Given the description of an element on the screen output the (x, y) to click on. 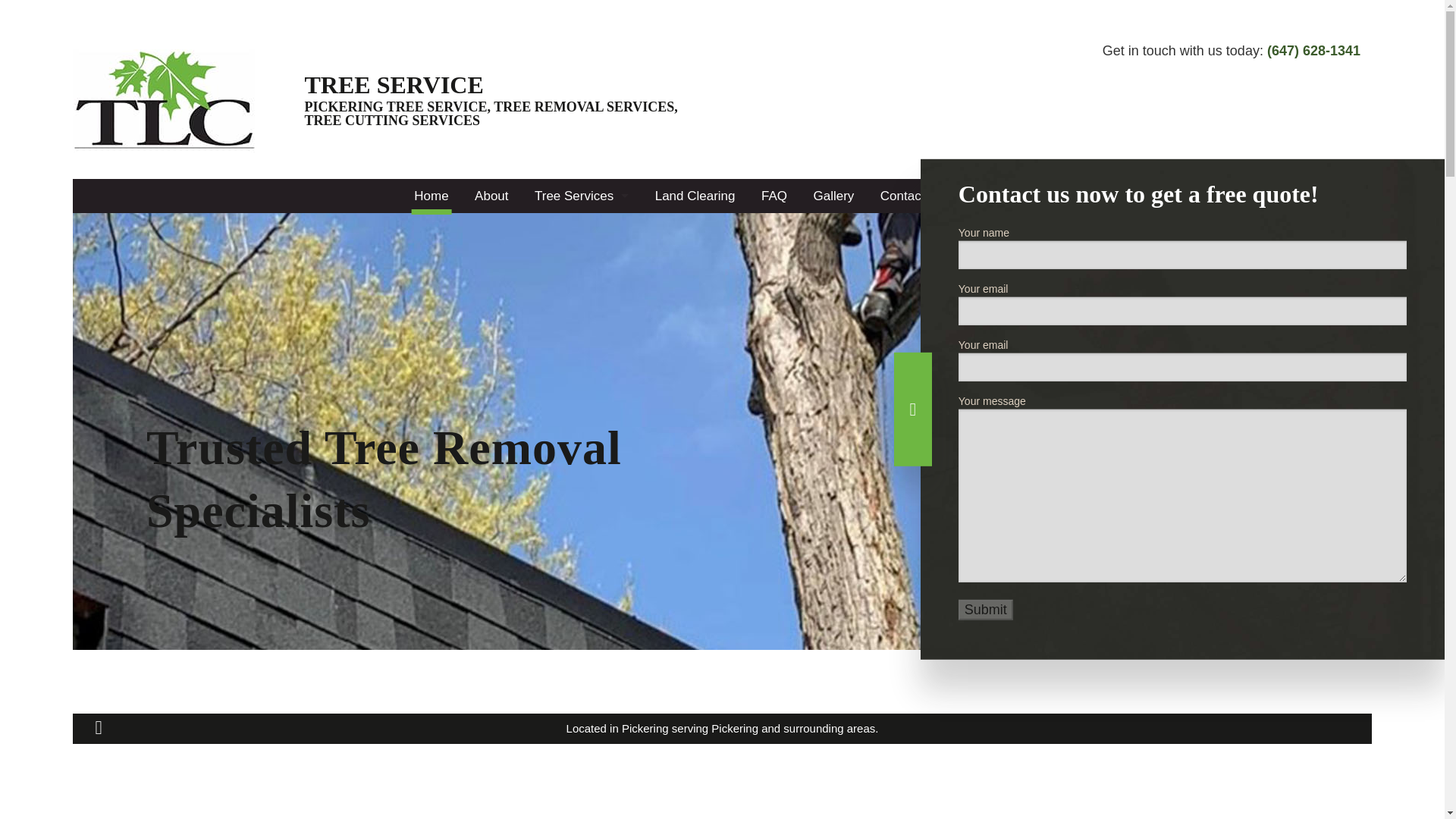
About (491, 195)
Tree Pruning (581, 362)
Tree Trimming (581, 430)
Service Areas (990, 195)
Home (431, 195)
Gallery (833, 195)
FAQ (773, 195)
Tree Removal (581, 397)
Contact (902, 195)
TLC Tree Service (165, 98)
Submit (985, 609)
Stump Grinding (581, 294)
Tree Services (581, 195)
Arborist (581, 226)
Emergency Tree Removal (581, 260)
